Given the description of an element on the screen output the (x, y) to click on. 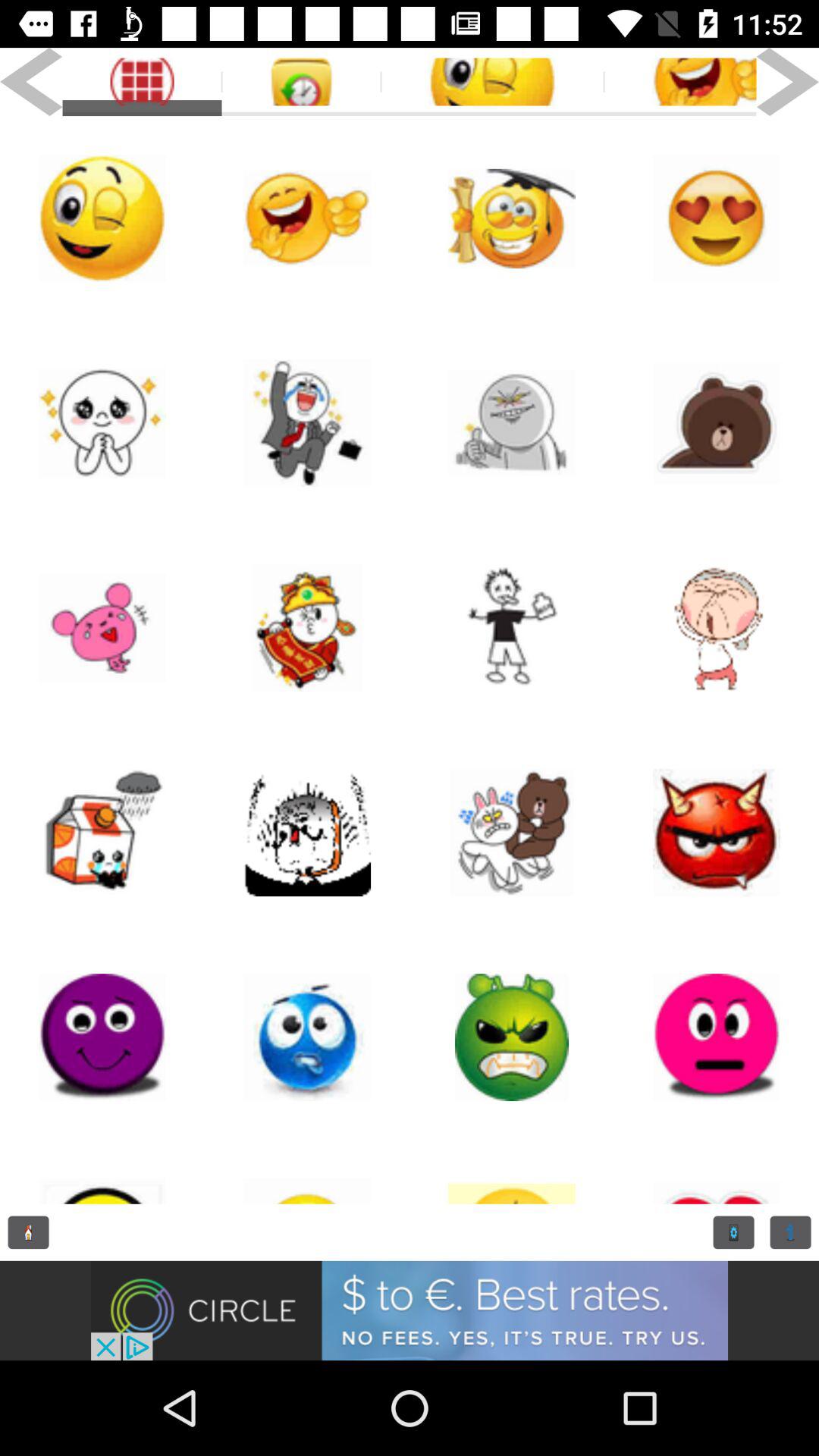
smile the picture (680, 81)
